Given the description of an element on the screen output the (x, y) to click on. 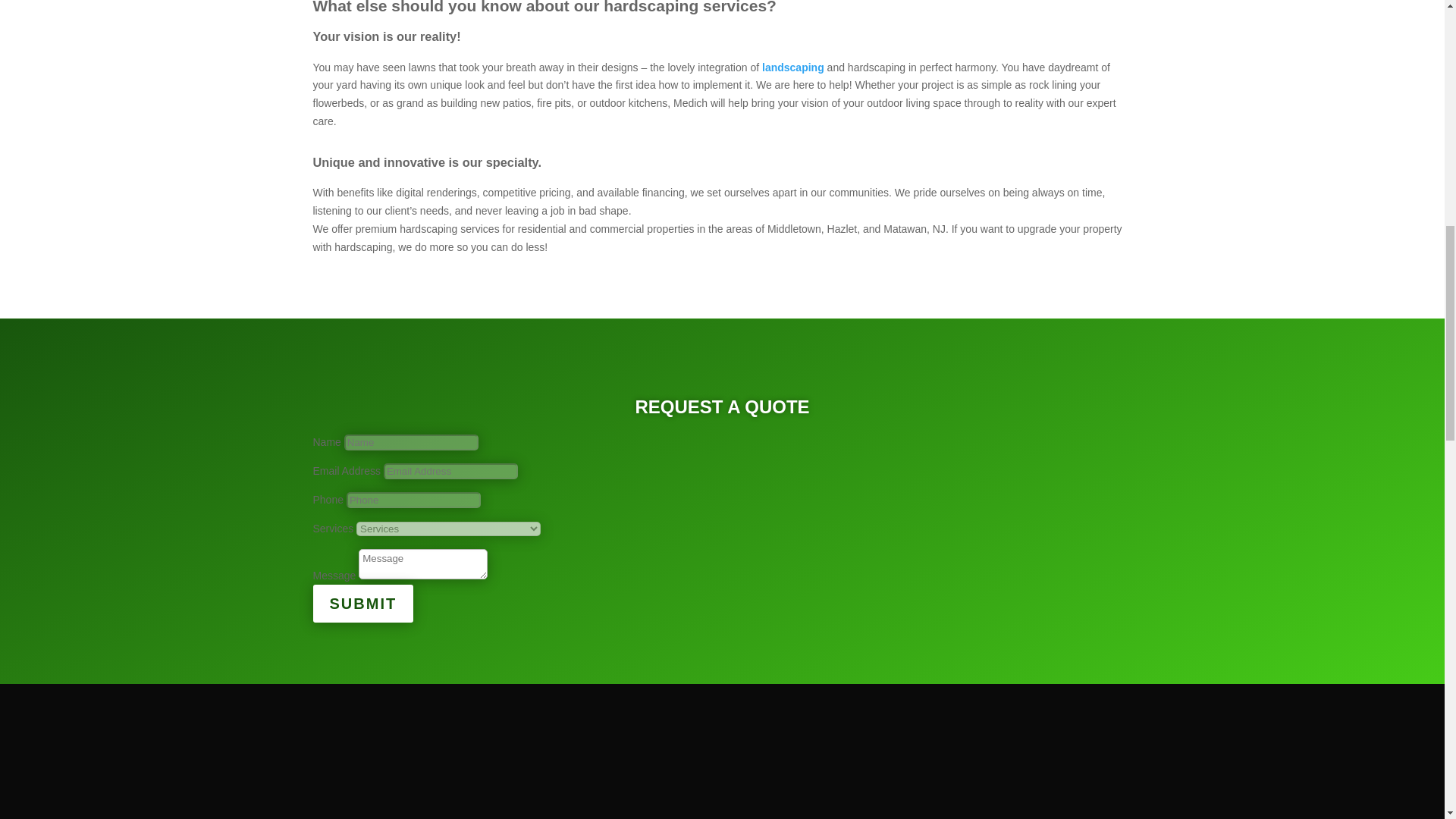
Only numbers allowed. (413, 499)
